Given the description of an element on the screen output the (x, y) to click on. 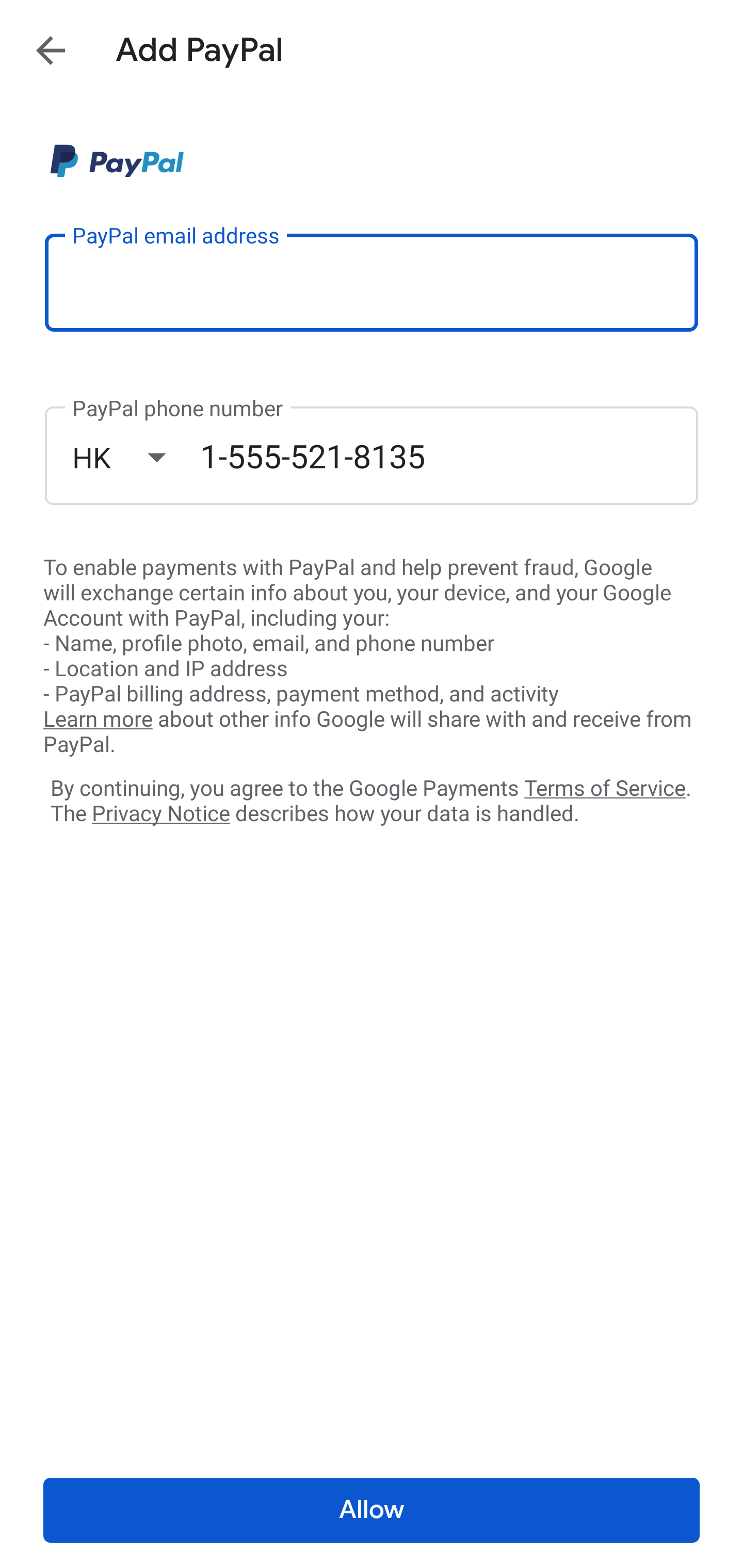
Navigate up (50, 50)
PayPal email address (371, 282)
HK (135, 456)
Learn more (97, 719)
Terms of Service (604, 787)
Privacy Notice (160, 814)
Allow (371, 1510)
